Given the description of an element on the screen output the (x, y) to click on. 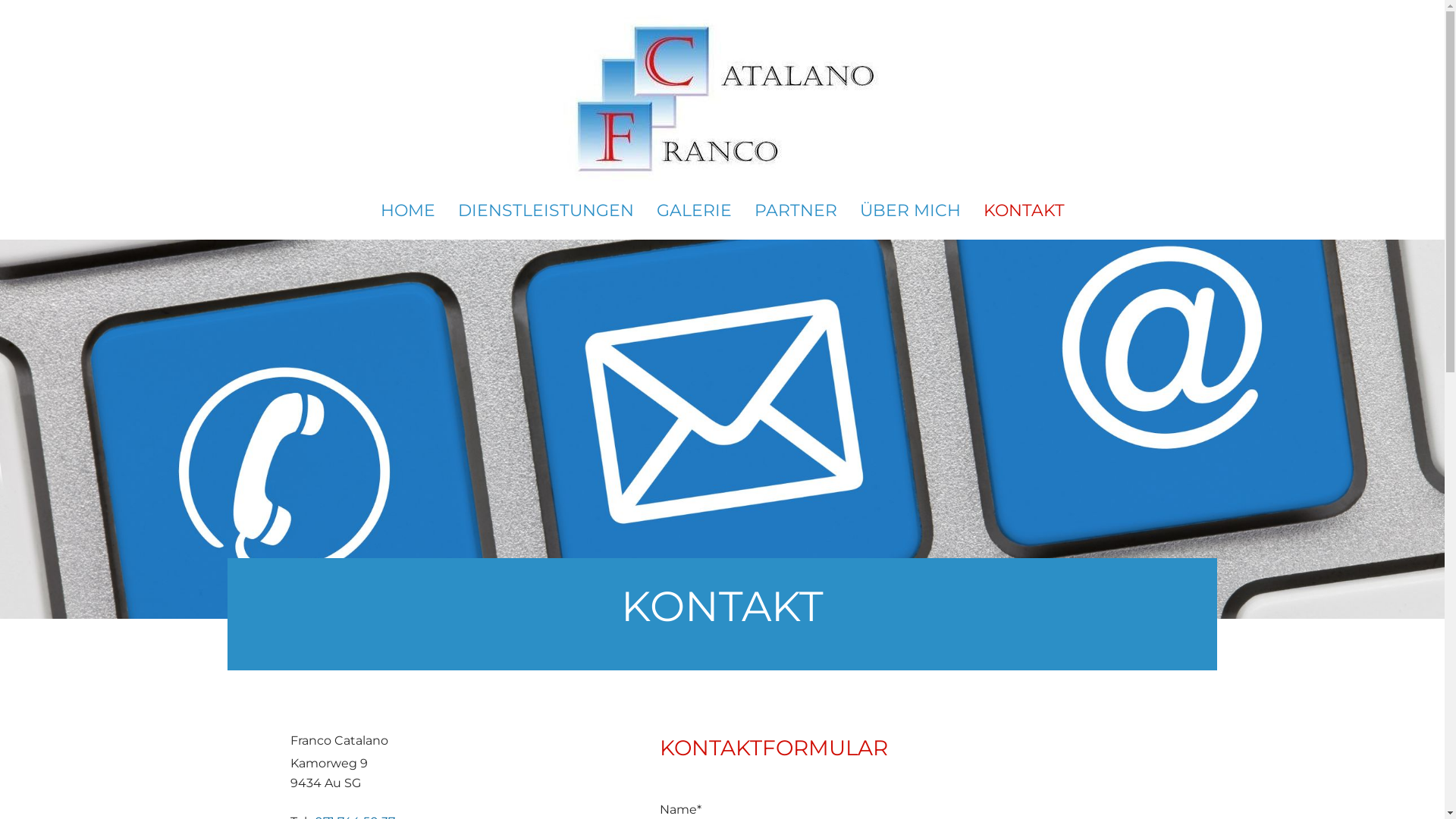
GALERIE Element type: text (693, 210)
KONTAKT Element type: text (1022, 210)
DIENSTLEISTUNGEN Element type: text (545, 210)
PARTNER Element type: text (794, 210)
HOME Element type: text (407, 210)
